Given the description of an element on the screen output the (x, y) to click on. 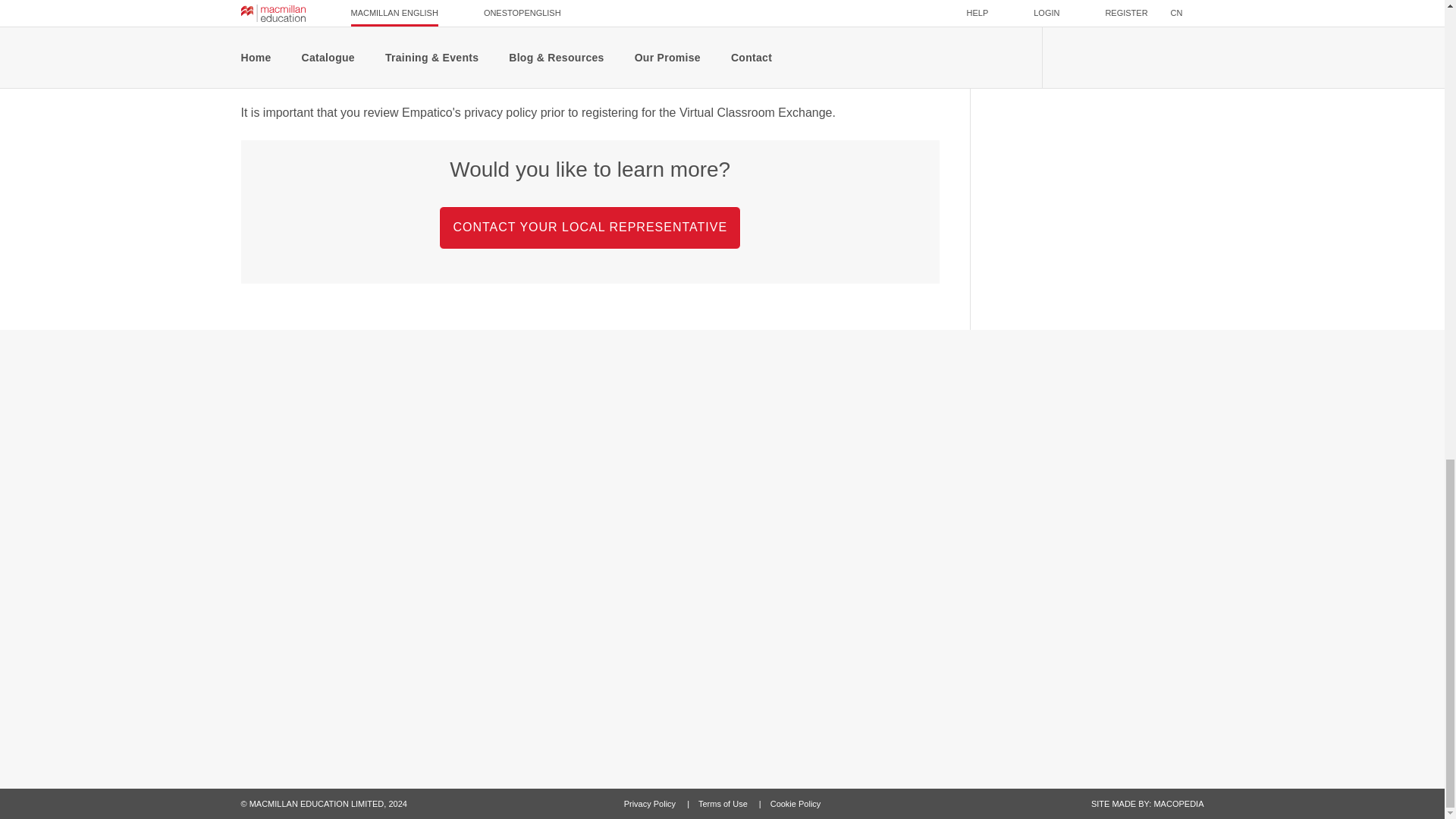
Level C1 (1024, 45)
CONTACT YOUR LOCAL REPRESENTATIVE (589, 226)
